Given the description of an element on the screen output the (x, y) to click on. 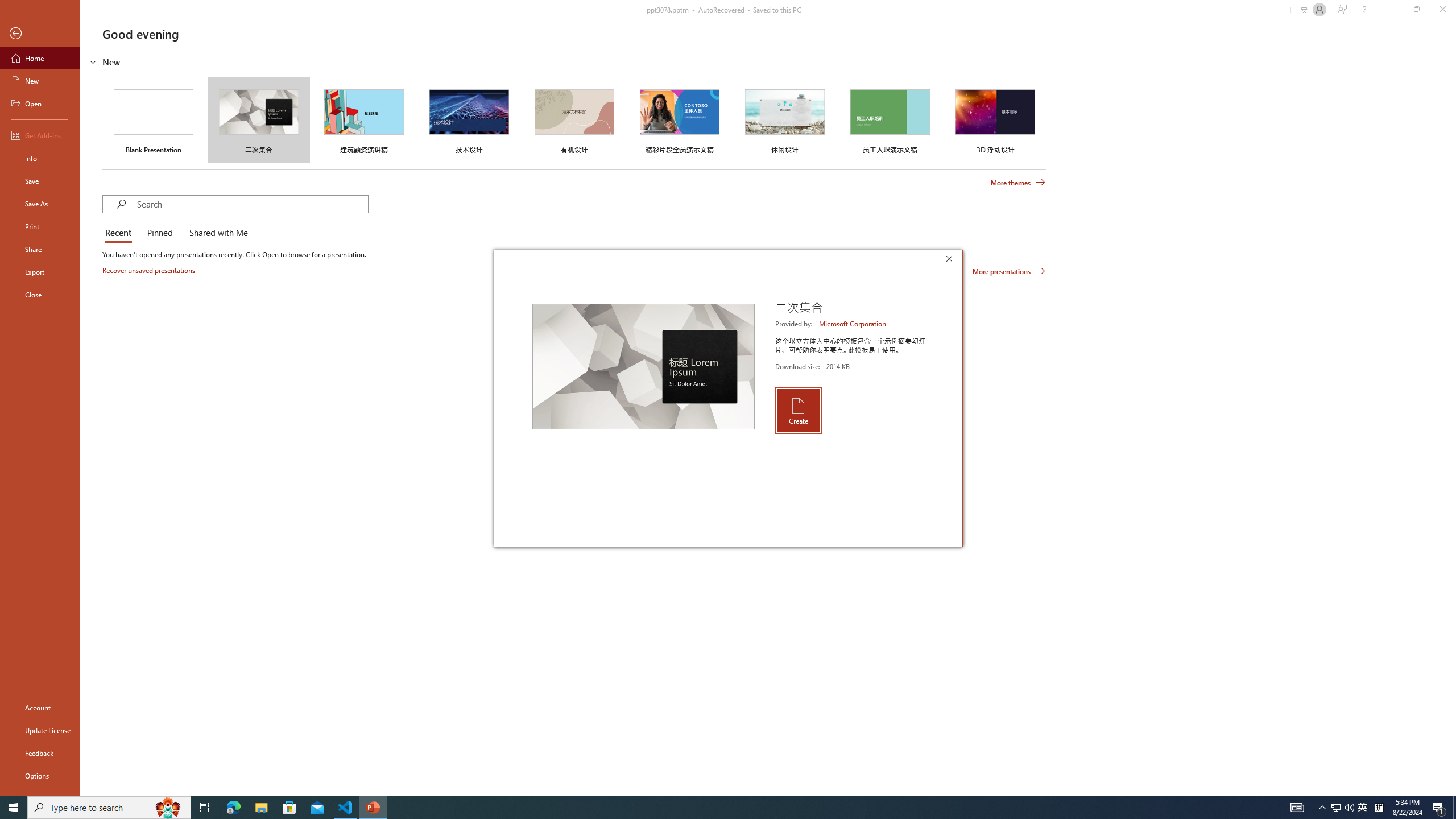
Action Center, 1 new notification (1439, 807)
Blank Presentation (153, 119)
Shared with Me (215, 233)
Account (40, 707)
Class: NetUIScrollBar (1450, 421)
Create (797, 410)
Running applications (707, 807)
